Given the description of an element on the screen output the (x, y) to click on. 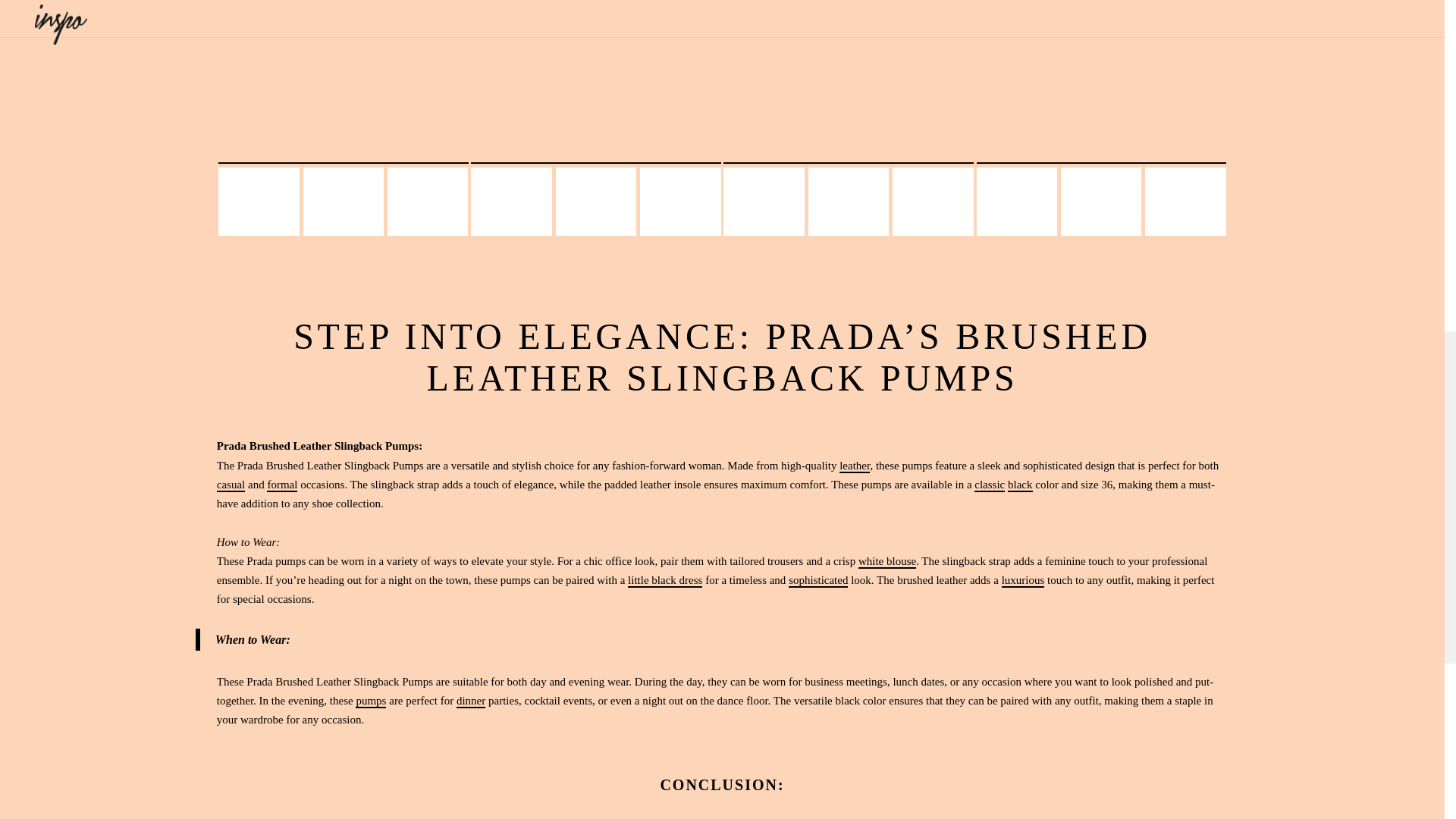
pumps (370, 701)
f (585, 636)
 copy (881, 636)
pinterest share (645, 636)
Share on Whatsapp (762, 636)
Send via Email (821, 636)
leather (854, 466)
w (762, 636)
formal (281, 485)
c (881, 636)
